Given the description of an element on the screen output the (x, y) to click on. 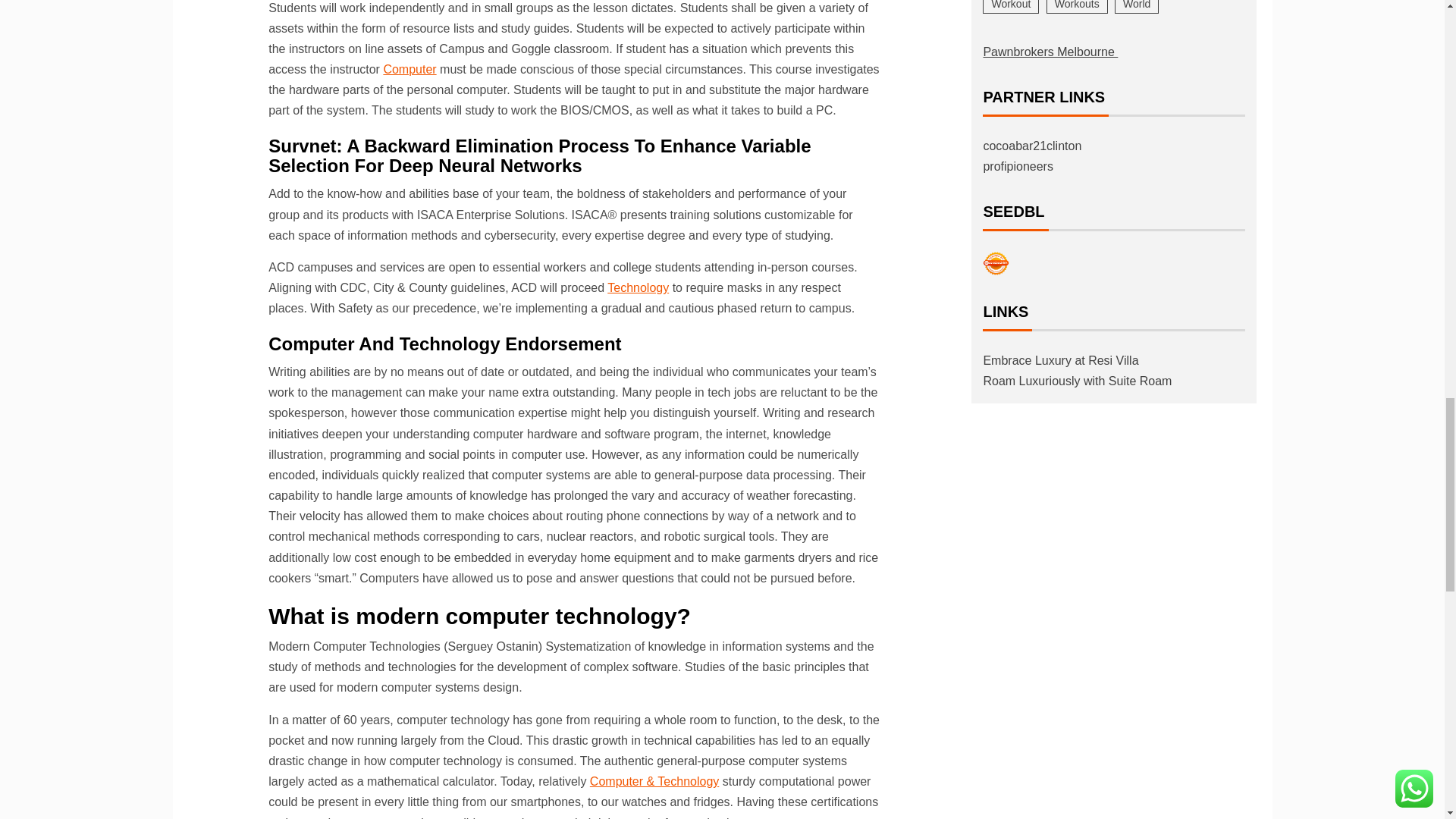
Seedbacklink (995, 263)
